Given the description of an element on the screen output the (x, y) to click on. 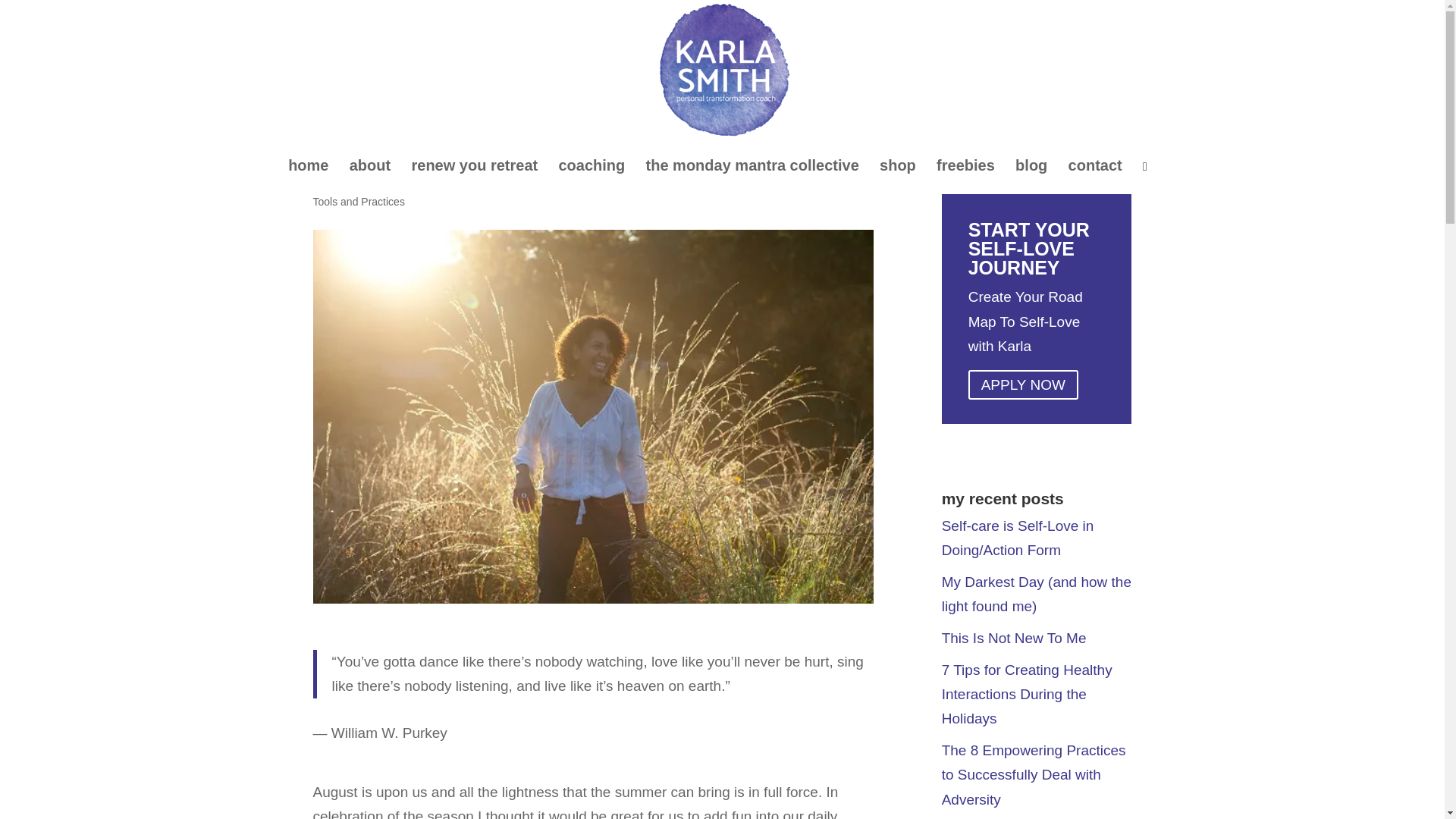
This Is Not New To Me (1014, 637)
coaching (590, 166)
freebies (965, 166)
contact (1095, 166)
APPLY NOW (1023, 384)
about (369, 166)
Tools and Practices (358, 201)
7 Tips for Creating Healthy Interactions During the Holidays (1027, 694)
home (308, 166)
the monday mantra collective (752, 166)
renew you retreat (473, 166)
